Given the description of an element on the screen output the (x, y) to click on. 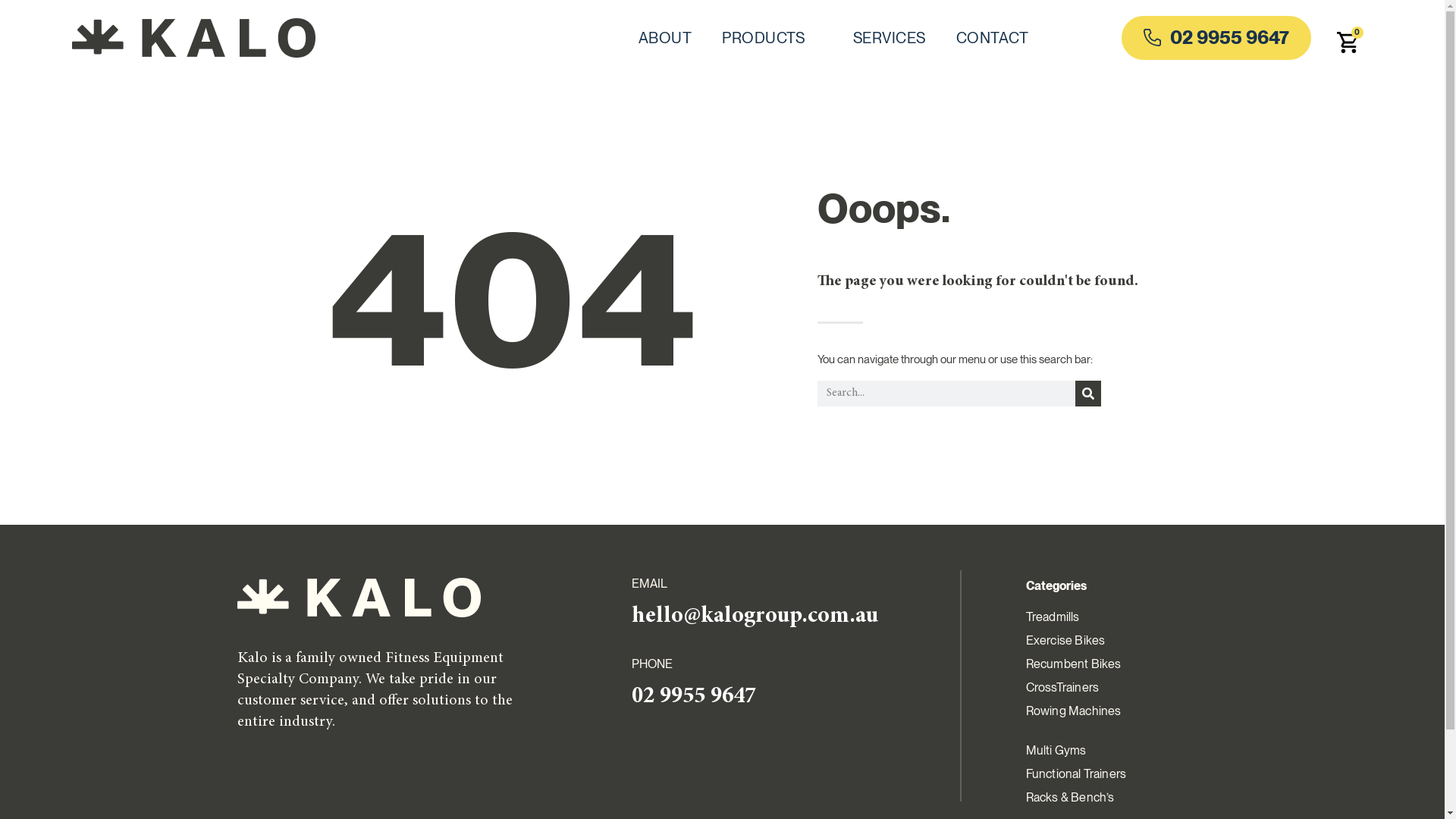
02 9955 9647 Element type: text (1216, 37)
Multi Gyms Element type: text (1112, 750)
PRODUCTS Element type: text (771, 37)
Treadmills Element type: text (1112, 616)
SERVICES Element type: text (889, 37)
CrossTrainers Element type: text (1112, 687)
CONTACT Element type: text (992, 37)
02 9955 9647 Element type: text (692, 696)
Functional Trainers Element type: text (1112, 773)
Rowing Machines Element type: text (1112, 718)
hello@kalogroup.com.au Element type: text (753, 616)
Recumbent Bikes Element type: text (1112, 663)
0
Cart Element type: text (1347, 43)
ABOUT Element type: text (665, 37)
SEARCH Element type: text (1088, 393)
Exercise Bikes Element type: text (1112, 640)
